Given the description of an element on the screen output the (x, y) to click on. 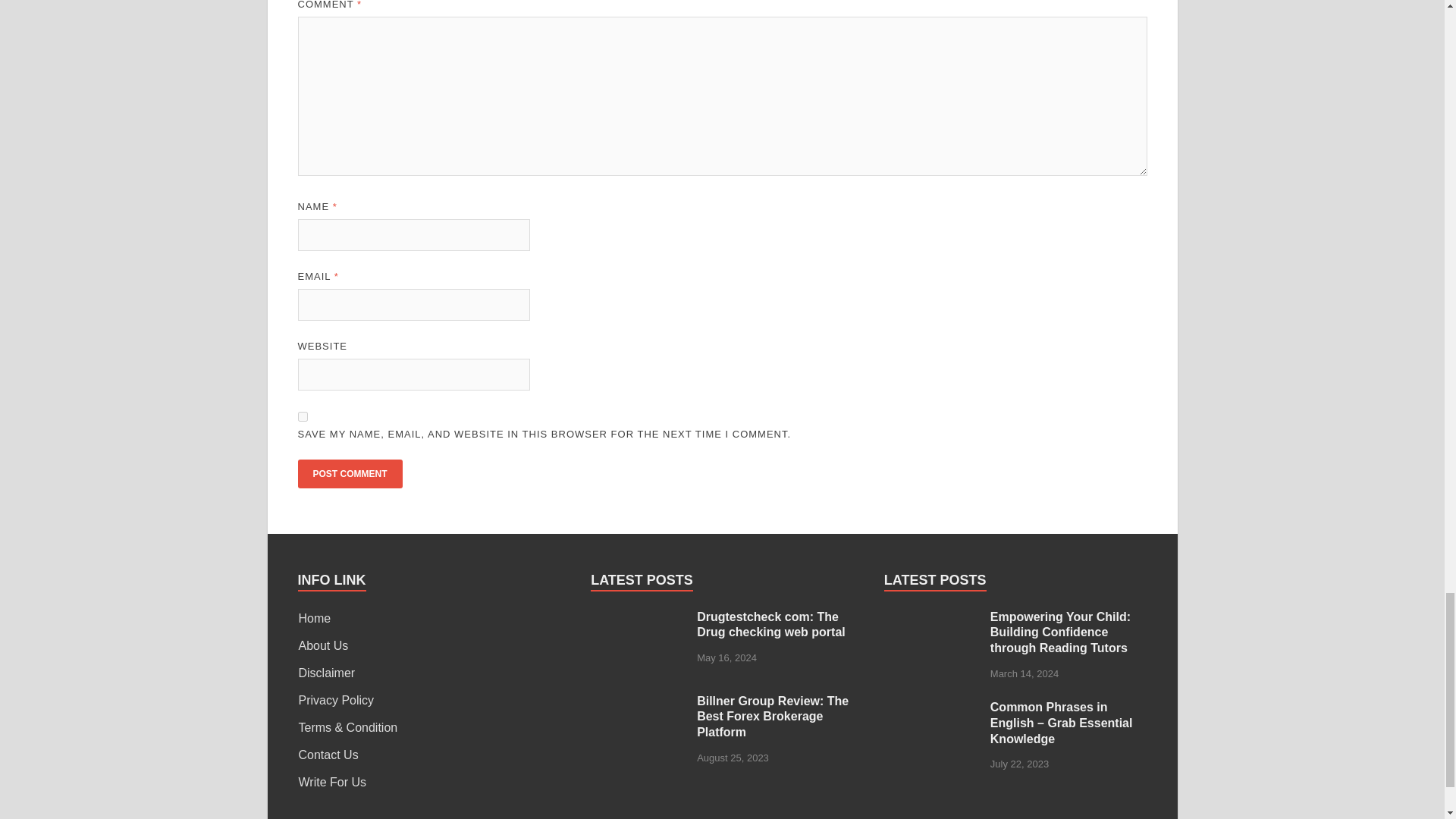
Post Comment (349, 473)
Billner Group Review: The Best Forex Brokerage Platform (638, 702)
Drugtestcheck com: The Drug checking web portal (638, 617)
yes (302, 416)
